Given the description of an element on the screen output the (x, y) to click on. 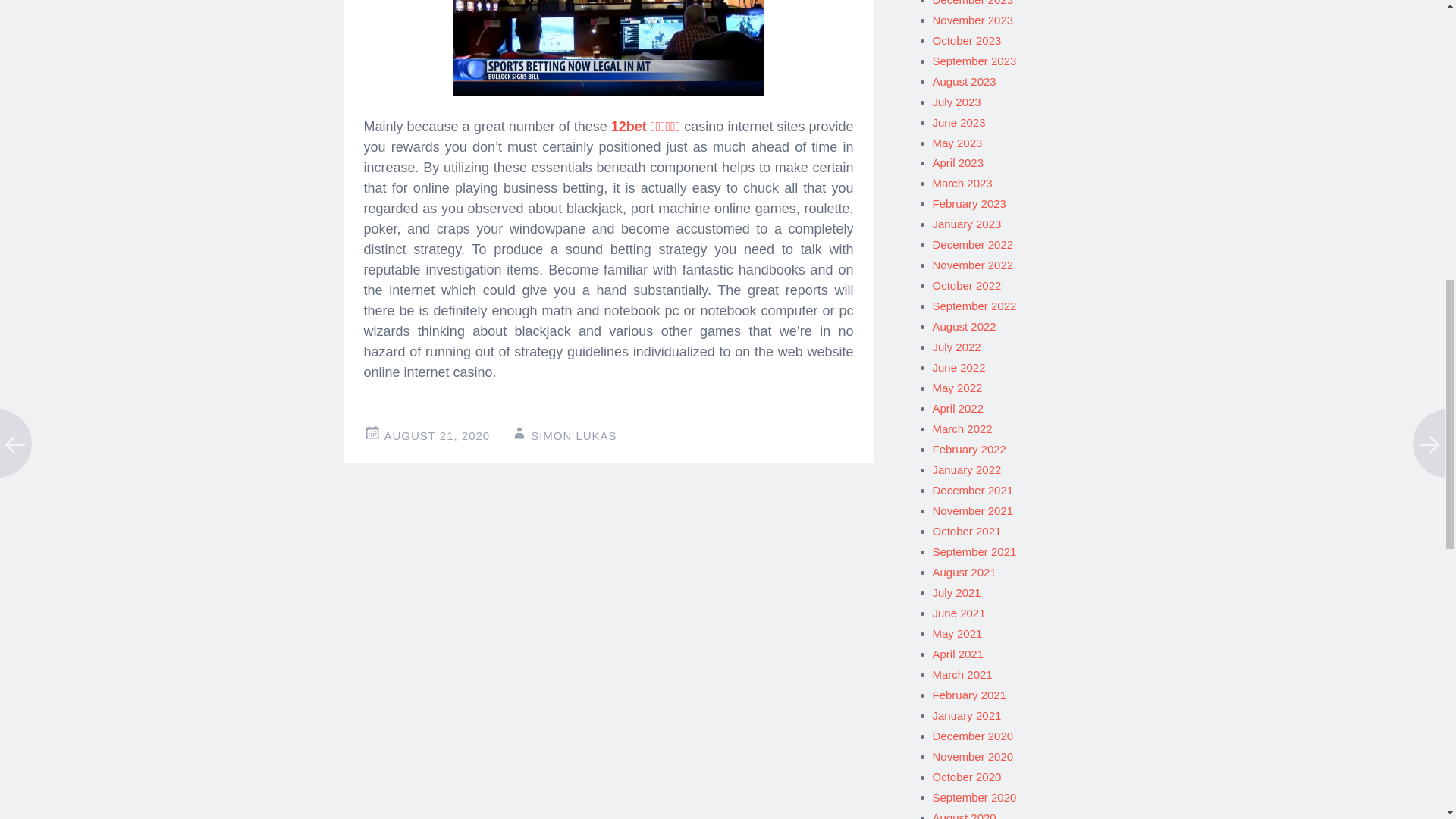
January 2023 (967, 223)
View all posts by Simon Lukas (573, 435)
May 2023 (957, 142)
December 2022 (973, 244)
July 2023 (957, 101)
November 2022 (973, 264)
October 2023 (967, 40)
April 2023 (958, 162)
June 2023 (959, 122)
September 2023 (974, 60)
